Given the description of an element on the screen output the (x, y) to click on. 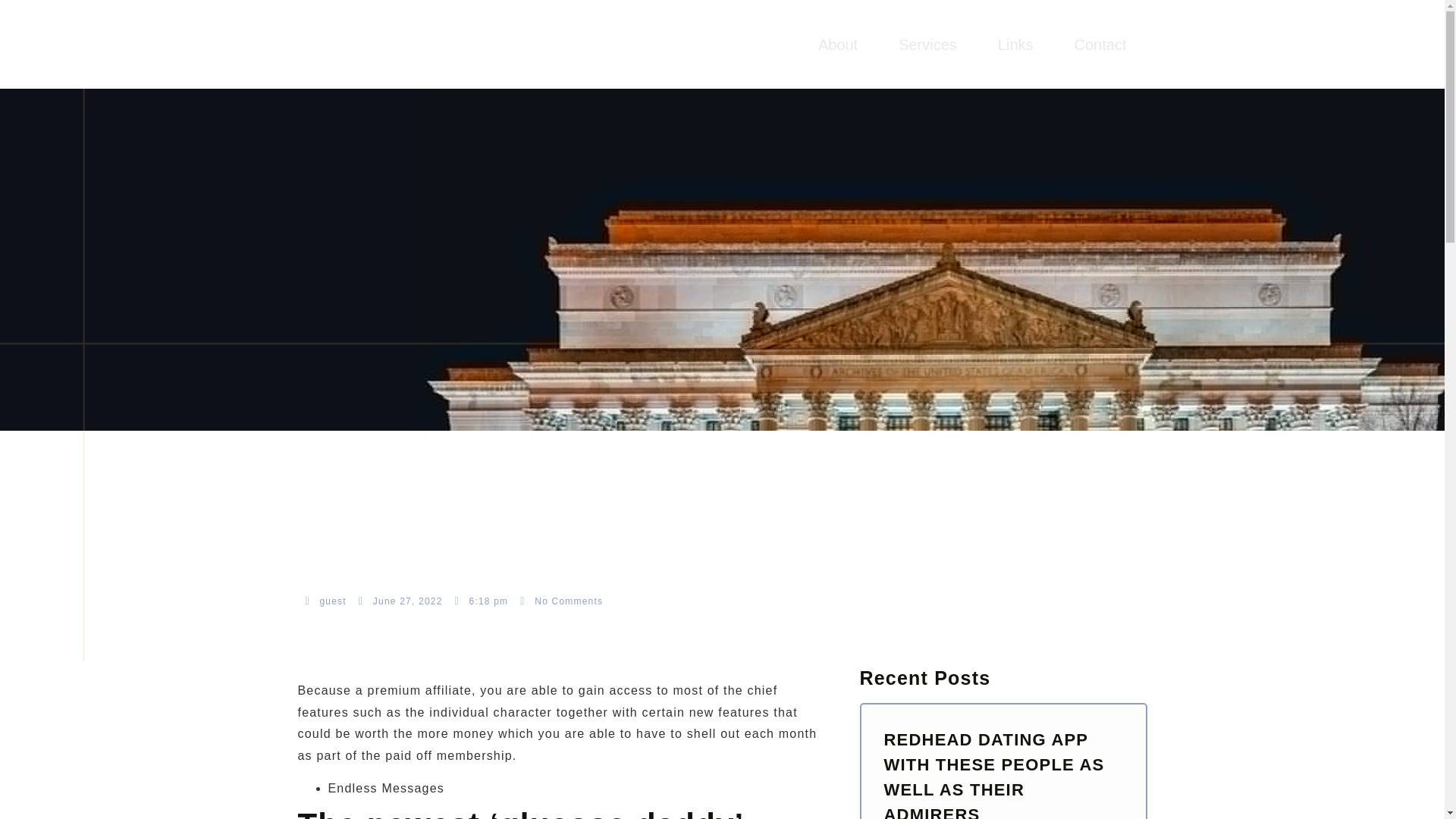
Contact (1100, 44)
About (837, 44)
Links (1015, 44)
guest (325, 601)
June 27, 2022 (400, 601)
Services (926, 44)
No Comments (560, 601)
